Given the description of an element on the screen output the (x, y) to click on. 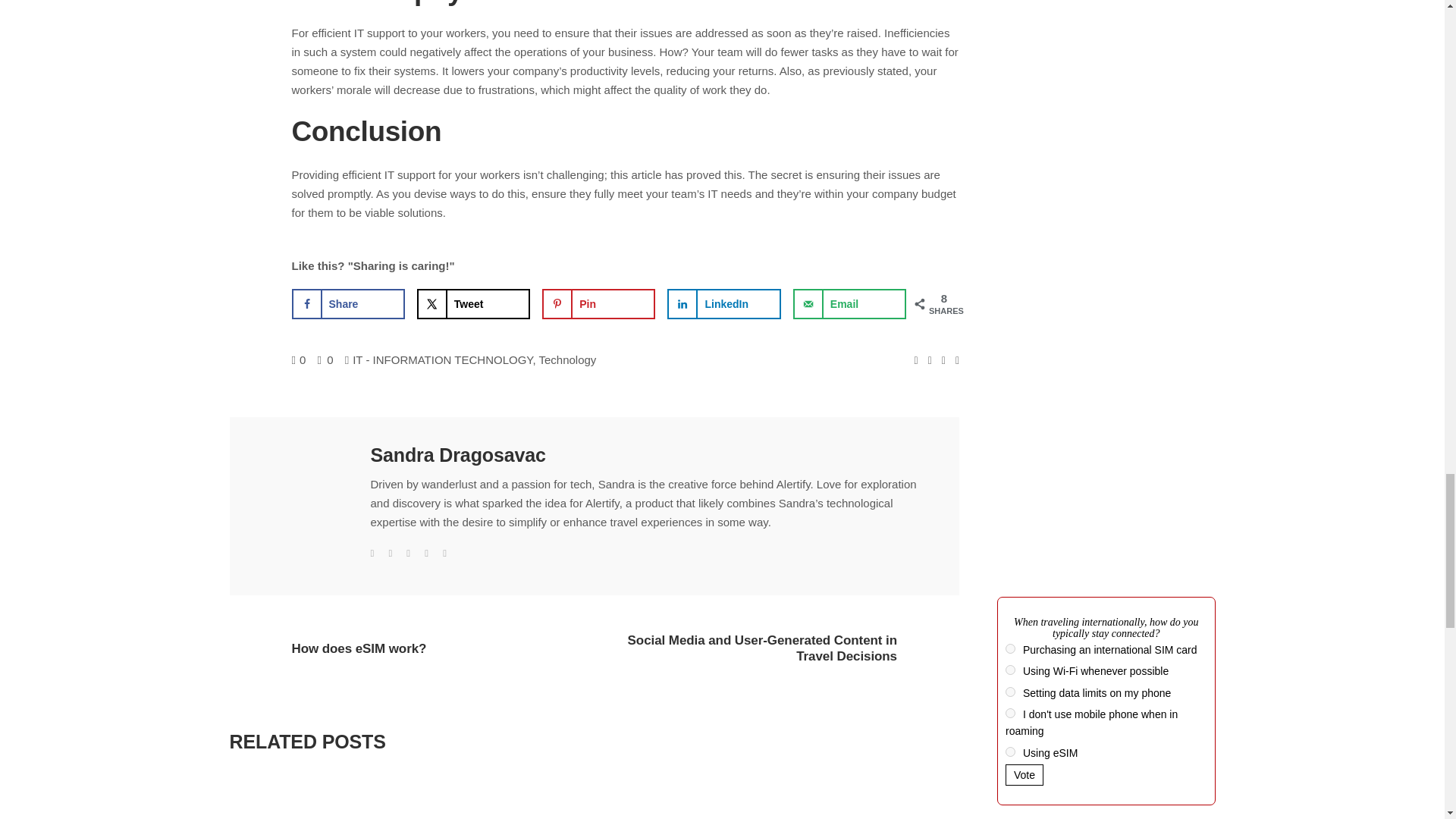
258 (1010, 713)
How To Provide Efficient IT Support To Your Employees (303, 490)
Share on X (472, 304)
Smart Card Applications in Healthcare and Identification (344, 801)
256 (1010, 691)
375 (1010, 750)
Share on LinkedIn (723, 304)
Like this (298, 359)
255 (1010, 669)
Share on Facebook (347, 304)
254 (1010, 648)
Send over email (849, 304)
How To Provide Efficient IT Support To Your Employees (456, 455)
